Given the description of an element on the screen output the (x, y) to click on. 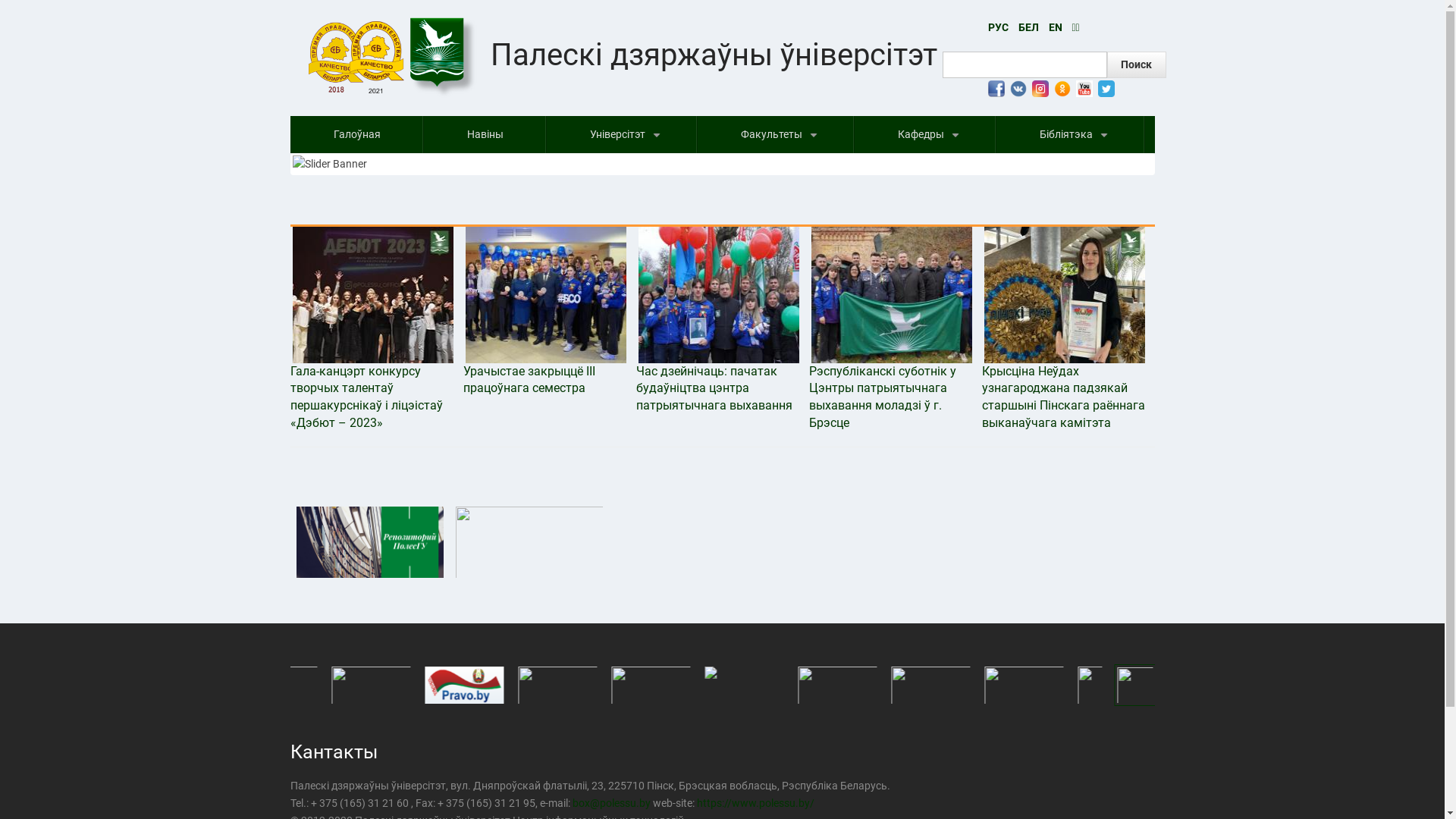
polessu.by Element type: text (624, 803)
https://www.polessu.by/ Element type: text (754, 803)
box@ Element type: text (585, 803)
EN Element type: text (1054, 27)
